Given the description of an element on the screen output the (x, y) to click on. 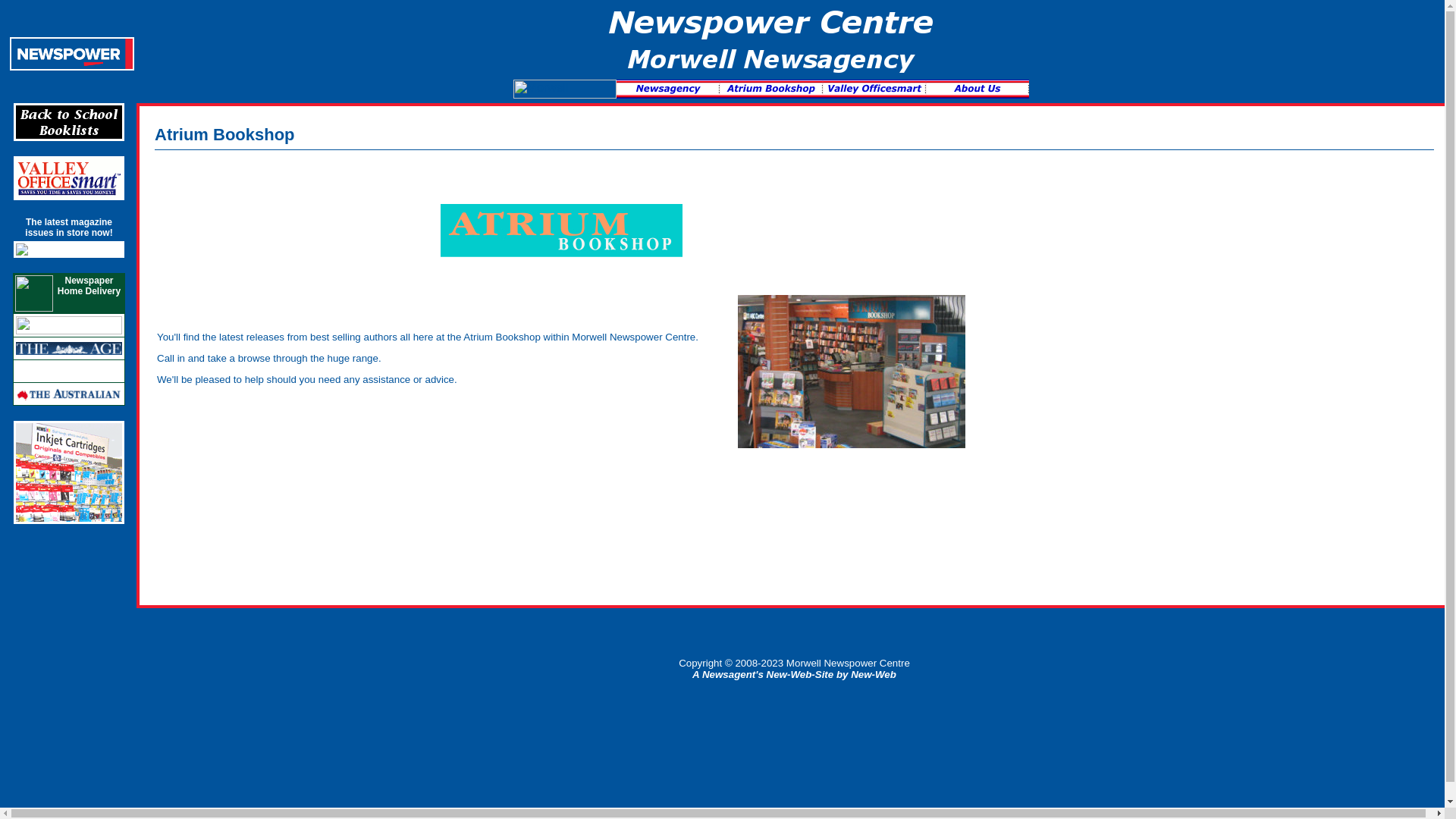
Click here to go to our Officesmart online store. Element type: hover (68, 195)
Click here to order school booklists. Element type: hover (68, 136)
Click here to view or order The Age home delivery offer. Element type: hover (68, 354)
The latest magazine
issues in store now! Element type: text (68, 227)
Click here to view larger image. Element type: hover (21, 252)
New-Web Element type: text (873, 674)
